Given the description of an element on the screen output the (x, y) to click on. 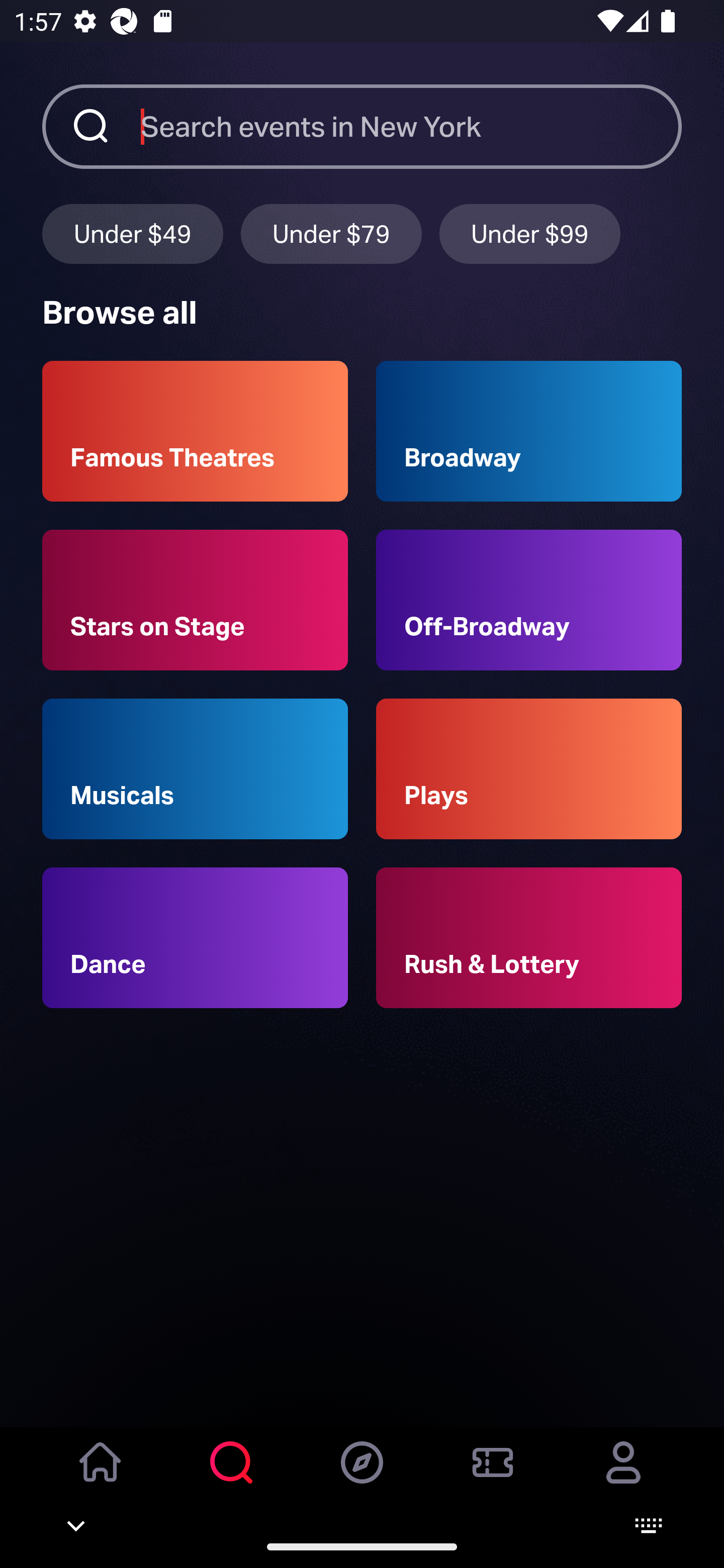
Search events in New York (411, 126)
Under $49 (131, 233)
Under $79 (331, 233)
Under $99 (529, 233)
Famous Theatres (194, 430)
Broadway (528, 430)
Stars on Stage (194, 600)
Off-Broadway (528, 600)
Musicals (194, 768)
Plays (528, 768)
Dance (194, 937)
Rush & Lottery (528, 937)
Home (100, 1475)
Discover (361, 1475)
Orders (492, 1475)
Account (623, 1475)
